Given the description of an element on the screen output the (x, y) to click on. 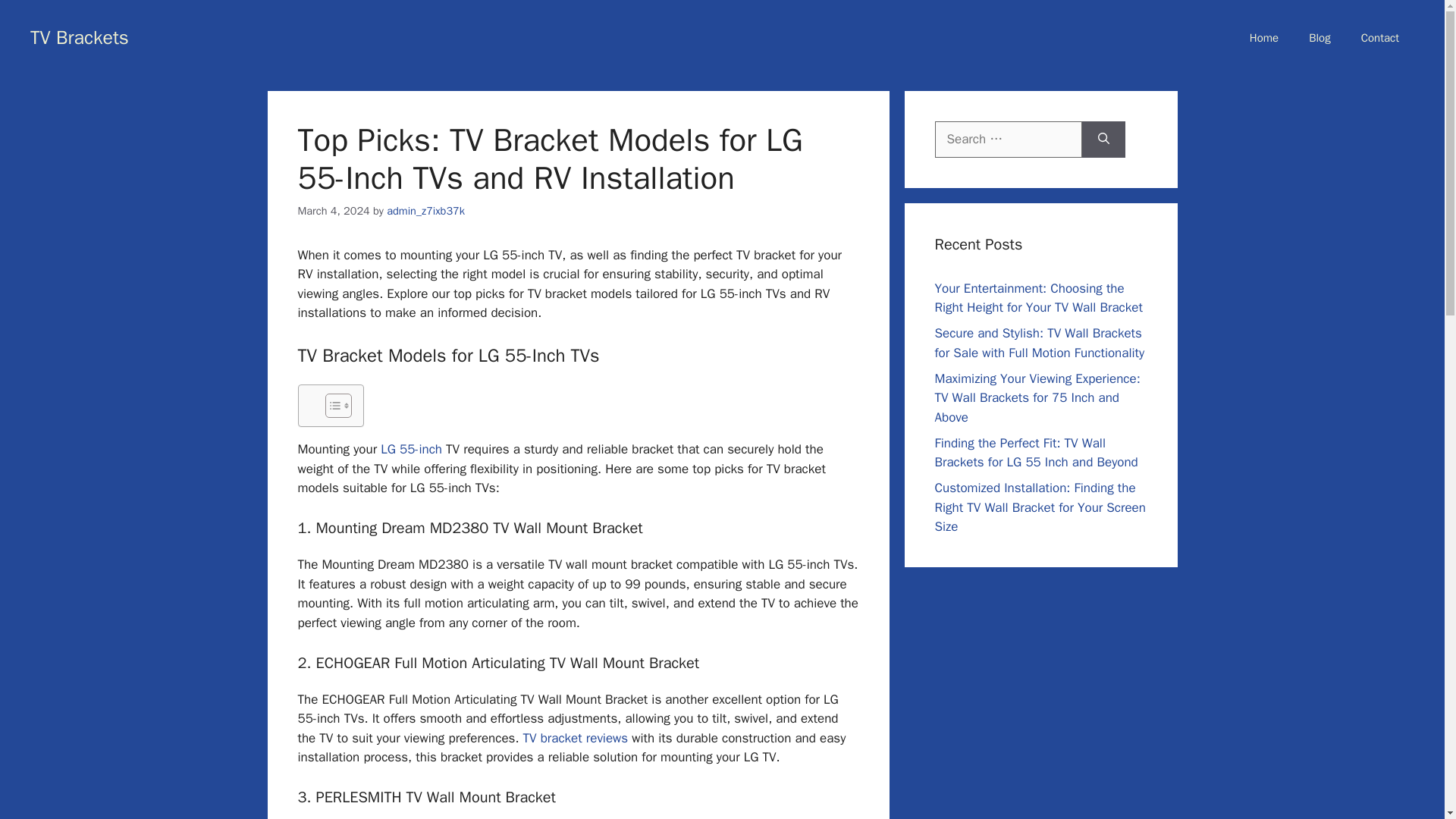
Blog (1319, 37)
TV Brackets (79, 37)
LG 55-inch (411, 449)
Search for: (1007, 139)
Home (1264, 37)
Contact (1379, 37)
TV bracket reviews (575, 738)
